Given the description of an element on the screen output the (x, y) to click on. 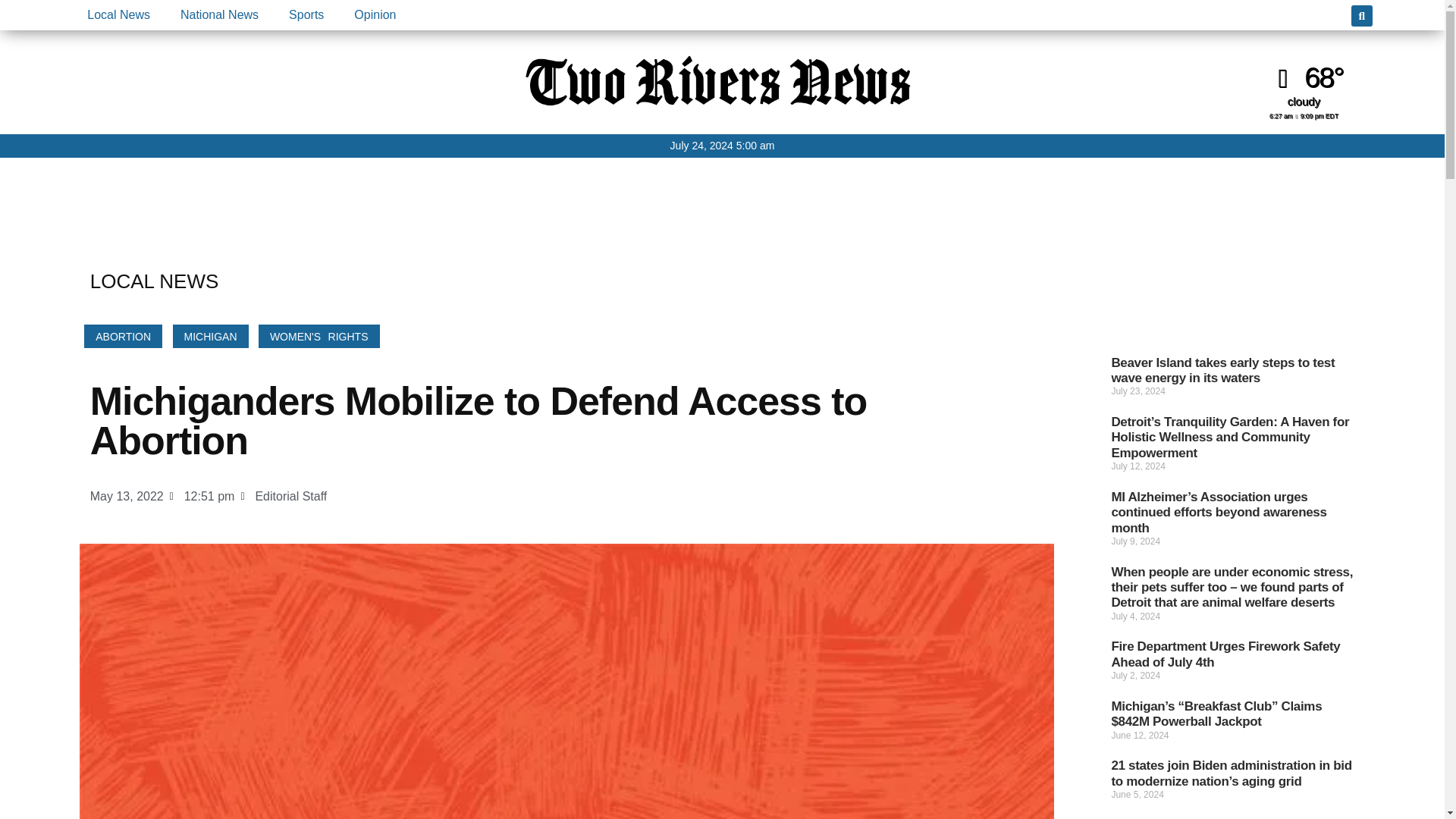
WOMEN'S RIGHTS (319, 336)
MICHIGAN (210, 336)
Local News (118, 14)
National News (219, 14)
Opinion (374, 14)
Fire Department Urges Firework Safety Ahead of July 4th (1224, 654)
Sports (306, 14)
ABORTION (122, 336)
